Given the description of an element on the screen output the (x, y) to click on. 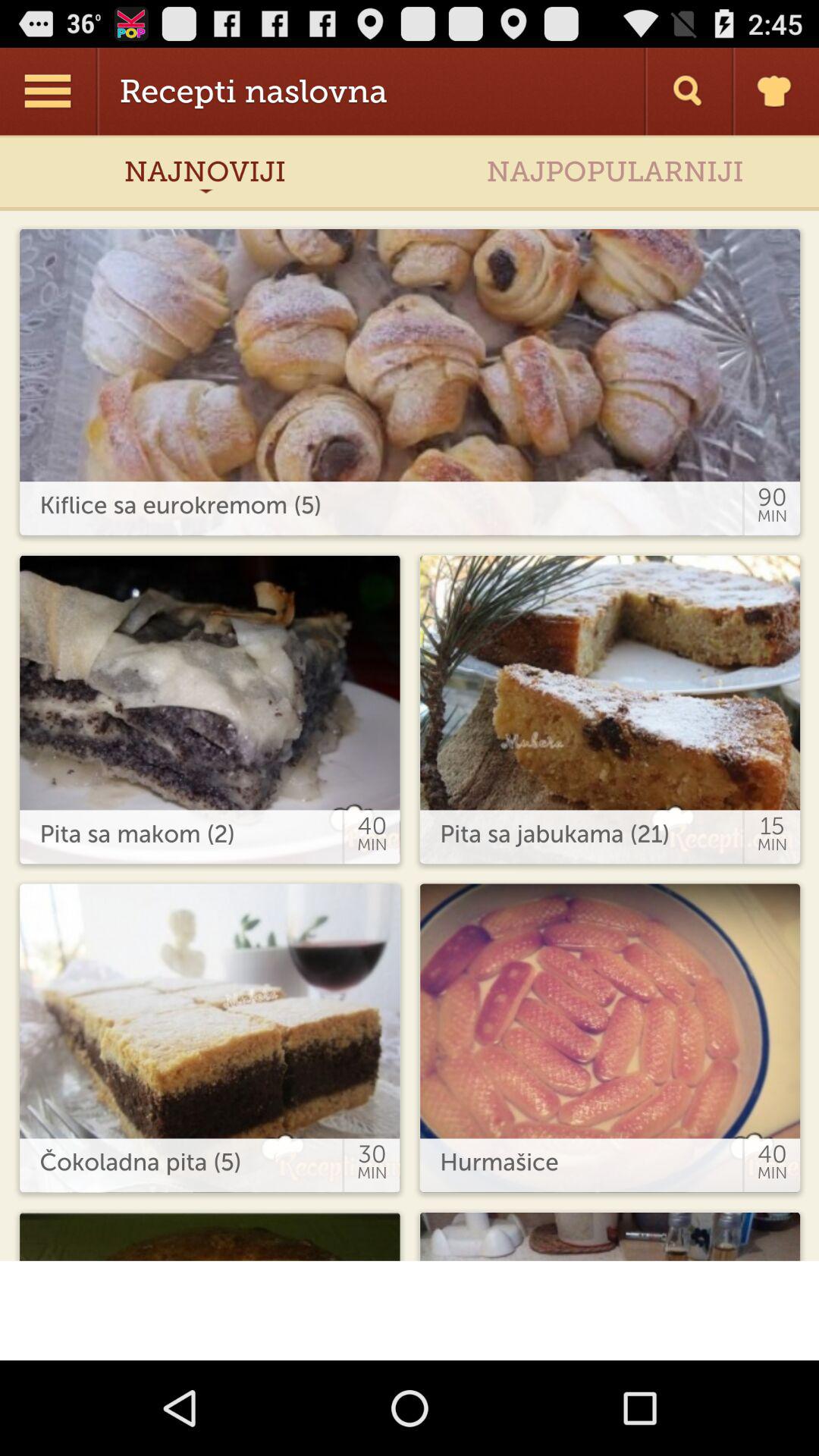
menu option (49, 91)
